Given the description of an element on the screen output the (x, y) to click on. 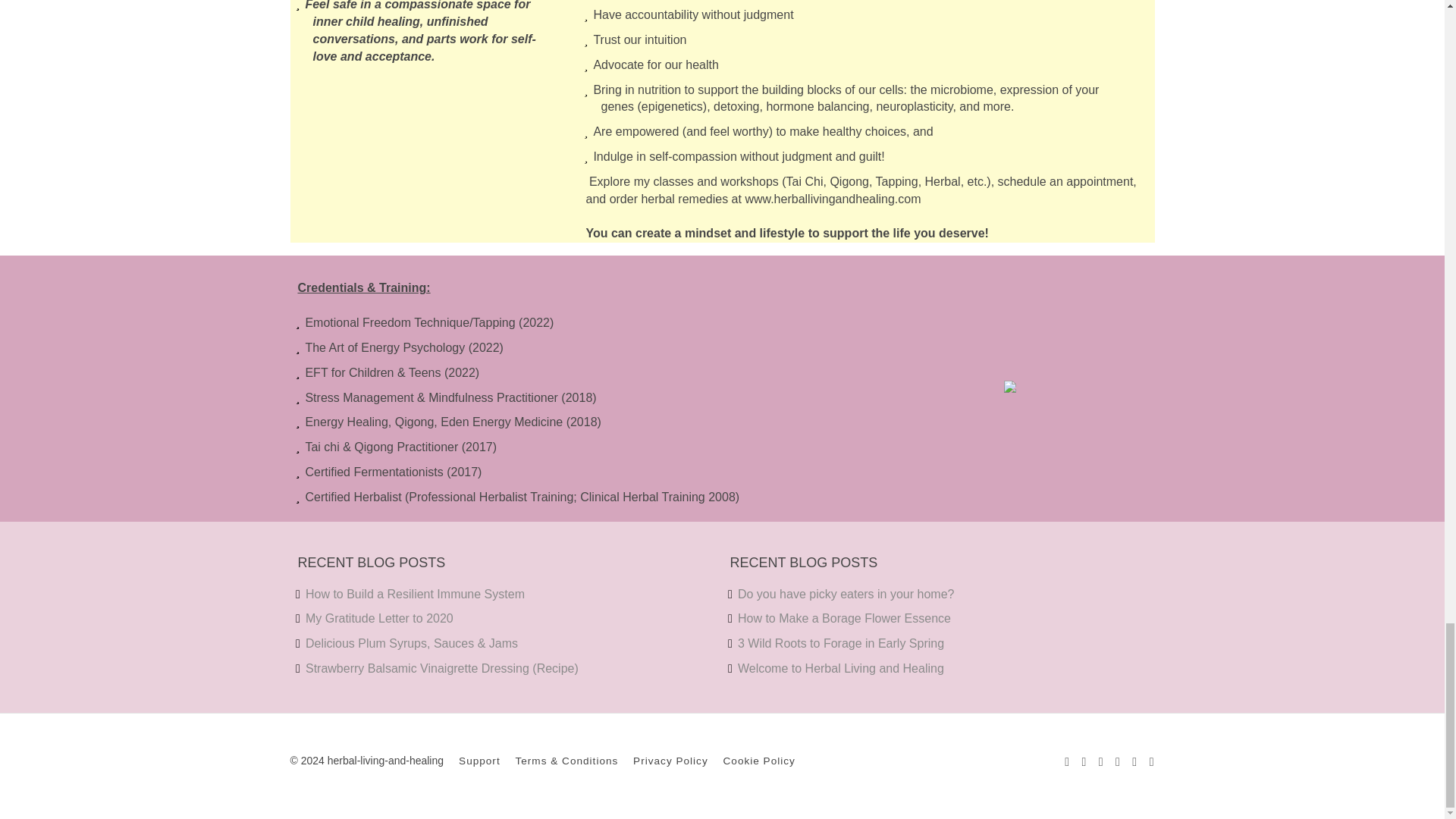
Support (479, 760)
3 Wild Roots to Forage in Early Spring (840, 643)
Cookie Policy (758, 760)
My Gratitude Letter to 2020 (378, 617)
Welcome to Herbal Living and Healing (840, 667)
How to Make a Borage Flower Essence (844, 617)
Privacy Policy (670, 760)
Do you have picky eaters in your home? (845, 594)
How to Build a Resilient Immune System (414, 594)
